Given the description of an element on the screen output the (x, y) to click on. 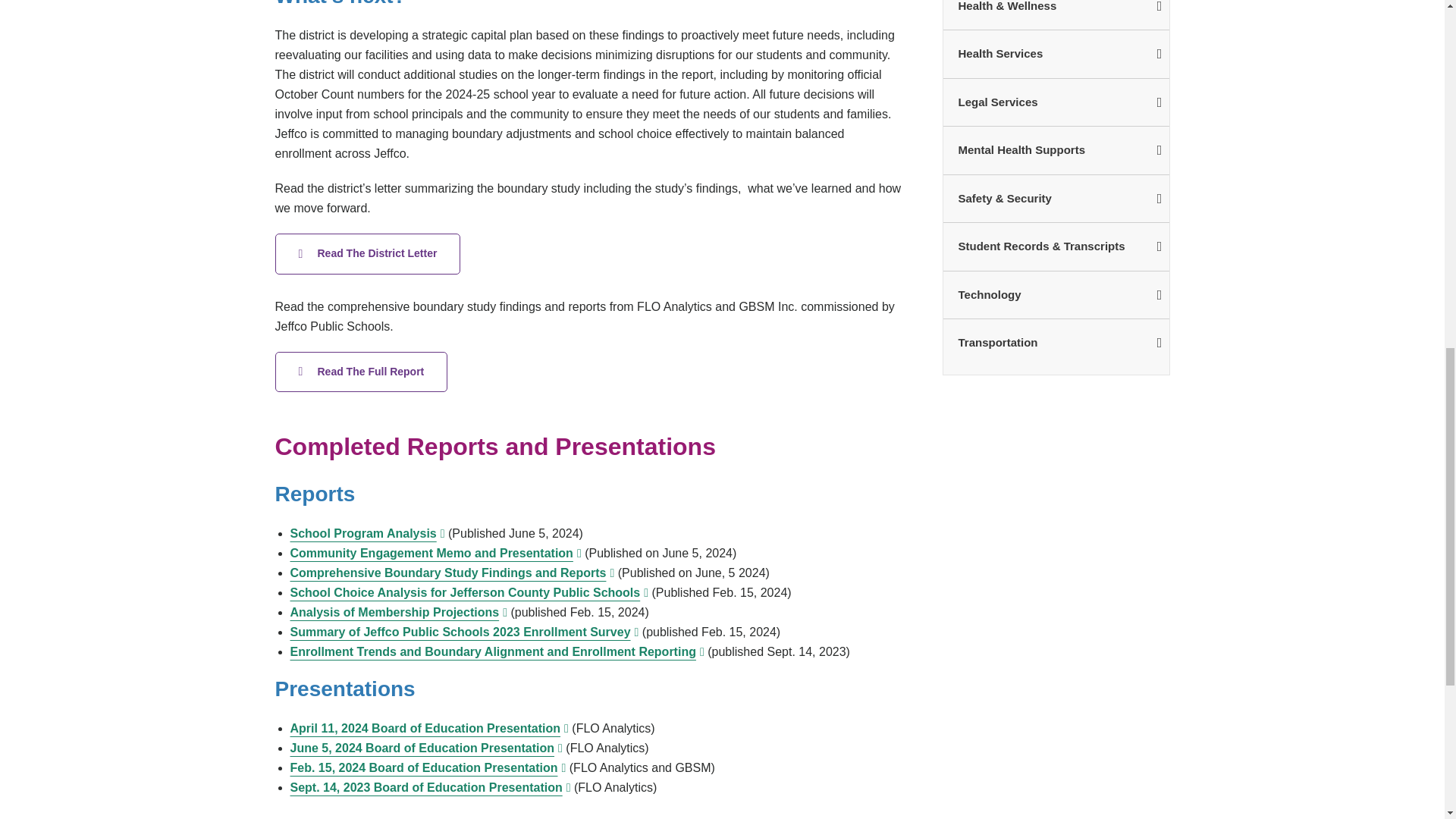
opens google docs (434, 553)
opens BoardDocs (360, 372)
Opens Board Docs (425, 748)
BoardDocs opens in a new tab (464, 631)
BoardDocs opens in a new tab (429, 787)
opens Board Docs (428, 727)
BoardDocs opens in a new tab (397, 612)
BoardDocs opens in a new tab (496, 651)
opens board docs (366, 533)
BoardDocs opens in a new tab (468, 592)
BoardDocs opens in a new tab (427, 767)
opens google docs (367, 253)
opens board docs (451, 572)
